Given the description of an element on the screen output the (x, y) to click on. 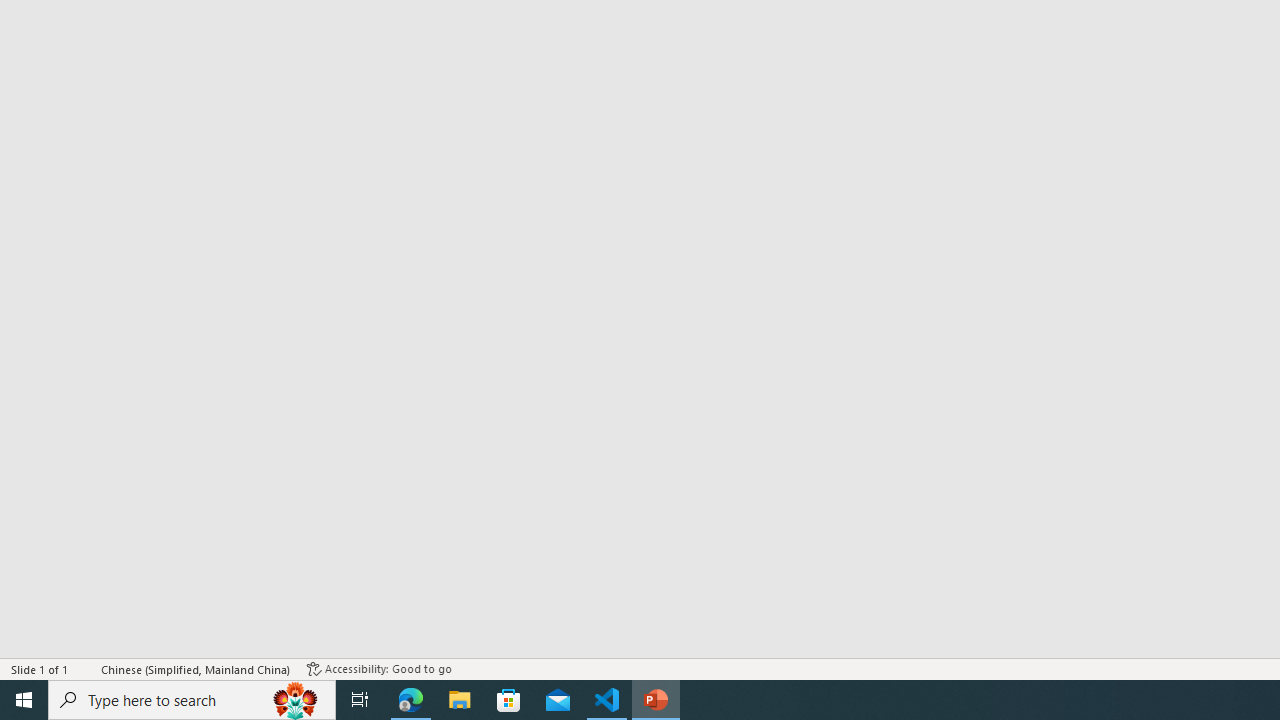
Spell Check  (86, 668)
